Given the description of an element on the screen output the (x, y) to click on. 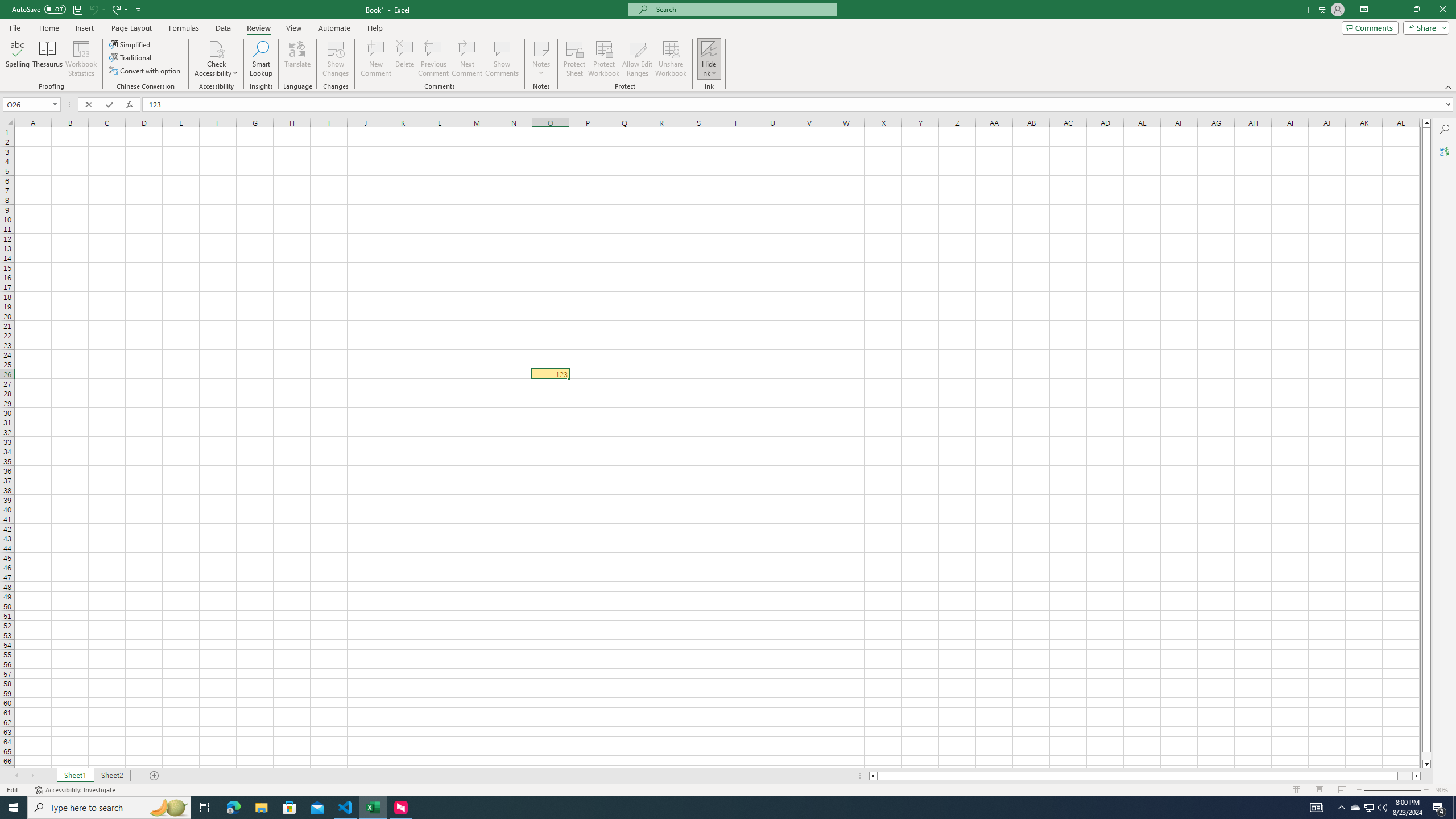
Name Box (30, 104)
Undo (96, 9)
Smart Lookup (260, 58)
Page Layout (1318, 790)
Customize Quick Access Toolbar (139, 9)
